Given the description of an element on the screen output the (x, y) to click on. 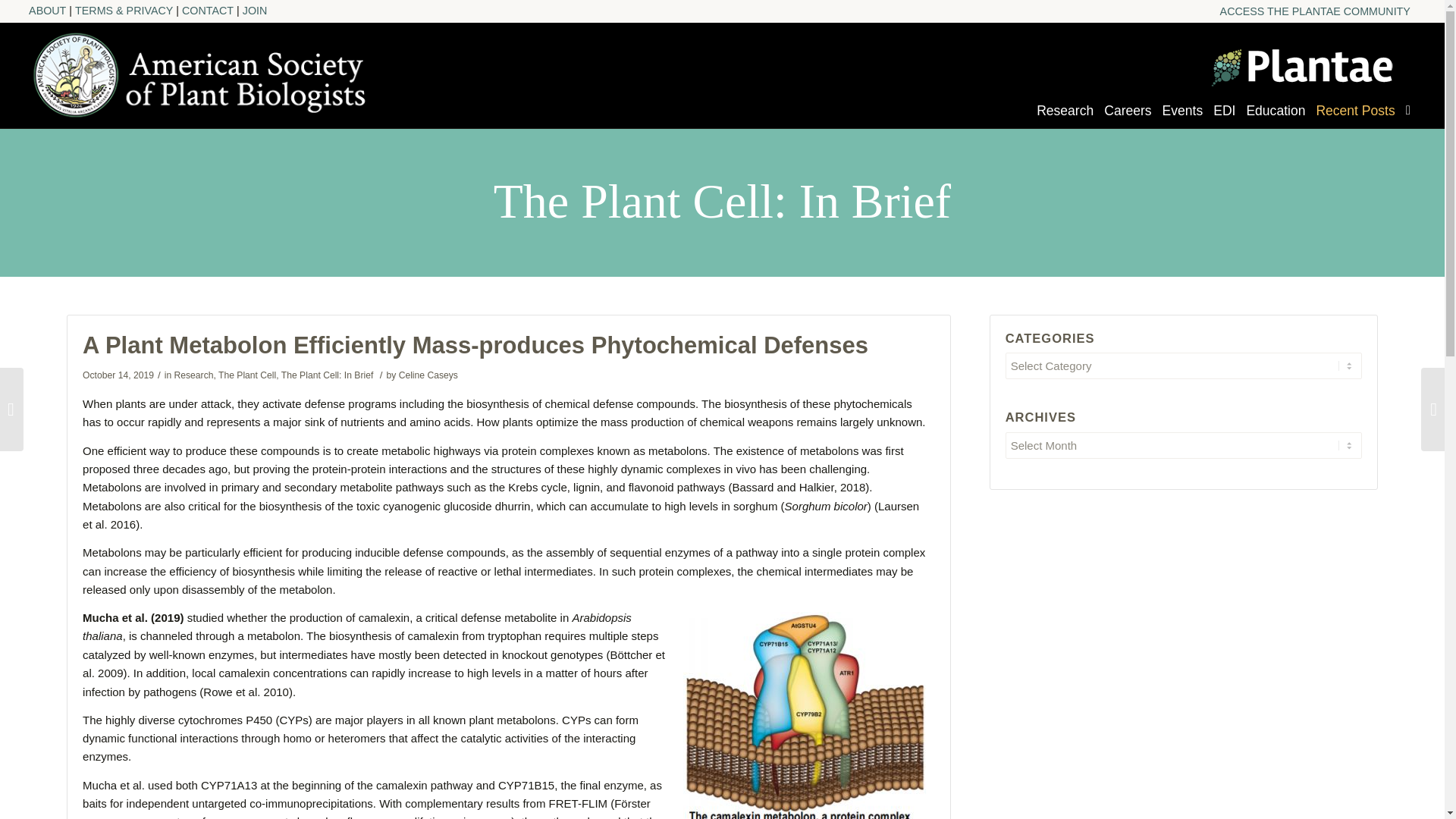
Research (194, 375)
The Plant Cell (247, 375)
Permanent Link: The Plant Cell: In Brief (721, 197)
Posts by Celine Caseys (428, 375)
JOIN (255, 10)
ABOUT (52, 10)
EDI (1224, 118)
Events (1182, 118)
Research (1064, 118)
Education (1275, 118)
